Given the description of an element on the screen output the (x, y) to click on. 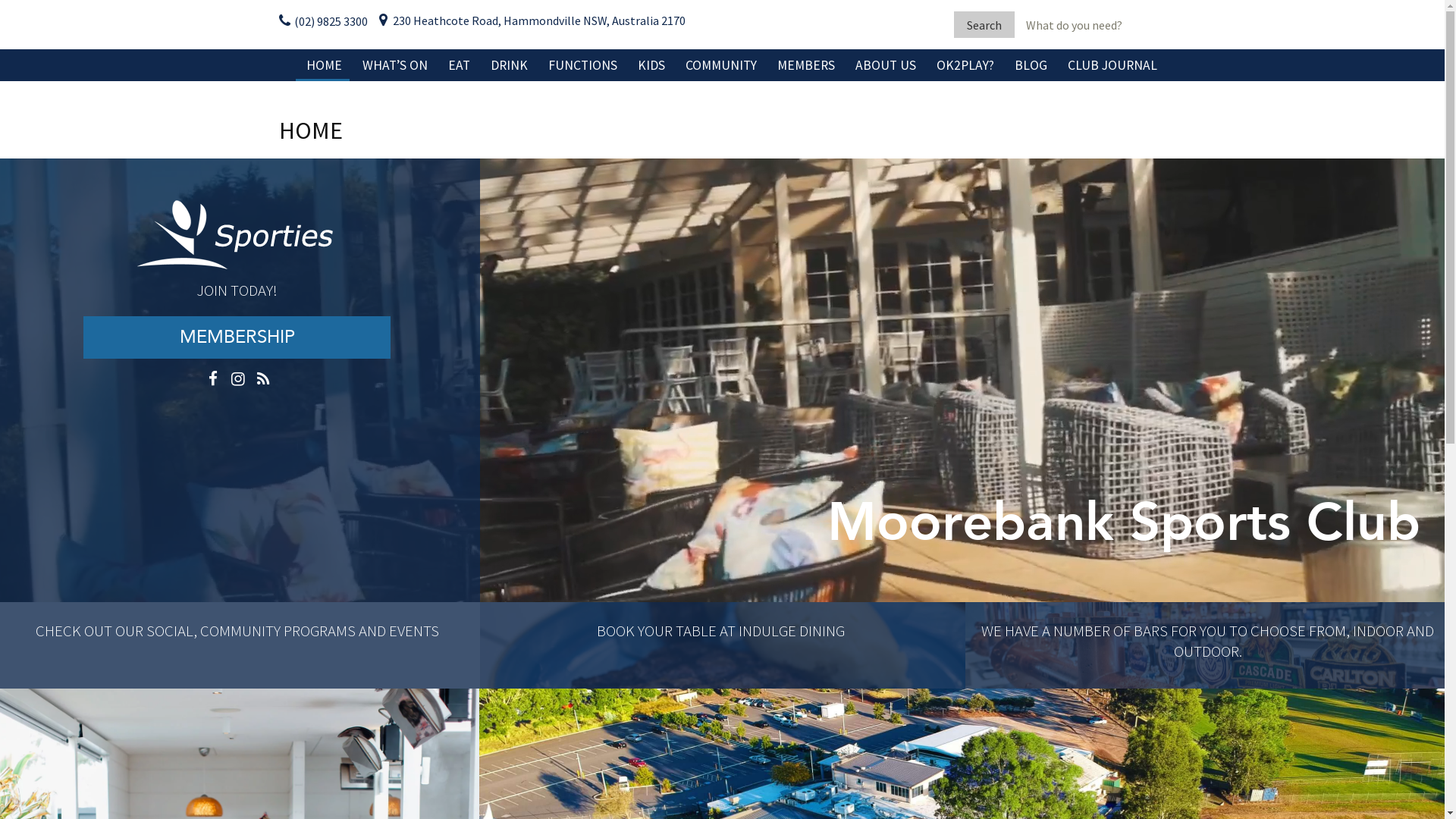
The Backyard Element type: text (717, 106)
Like us on Facebook Element type: hover (212, 381)
COMMUNITY Element type: text (720, 65)
BOOK YOUR TABLE AT INDULGE DINING  Element type: text (721, 630)
EVENTS Element type: text (413, 630)
OK2PLAY? Element type: text (856, 106)
Contact Element type: text (935, 106)
SOCIAL Element type: text (168, 630)
COMMUNITY PROGRAMS Element type: text (276, 630)
Search Element type: text (983, 24)
KIDS Element type: text (650, 65)
Brasserie Element type: text (627, 106)
MEMBERS Element type: text (805, 65)
Nominate A Neighbour Element type: text (765, 106)
Main Bar Element type: text (570, 106)
Community Blog Element type: text (1094, 106)
OK2PLAY? Element type: text (964, 65)
CLUB JOURNAL Element type: text (1112, 65)
DRINK Element type: text (508, 65)
Follow us on Instagram Element type: hover (237, 381)
HOME Element type: text (324, 65)
BLOG Element type: text (1030, 65)
Bingo, Poker & Trivia Element type: text (442, 106)
(02) 9825 3300 Element type: text (323, 20)
Search for: Element type: hover (1090, 24)
EAT Element type: text (458, 65)
Half Time Diner Element type: text (527, 106)
Submit Feedback Element type: text (792, 442)
ABOUT US Element type: text (885, 65)
MEMBERSHIP Element type: text (236, 337)
FUNCTIONS Element type: text (581, 65)
Read Our RSS Feed Element type: hover (262, 381)
